Given the description of an element on the screen output the (x, y) to click on. 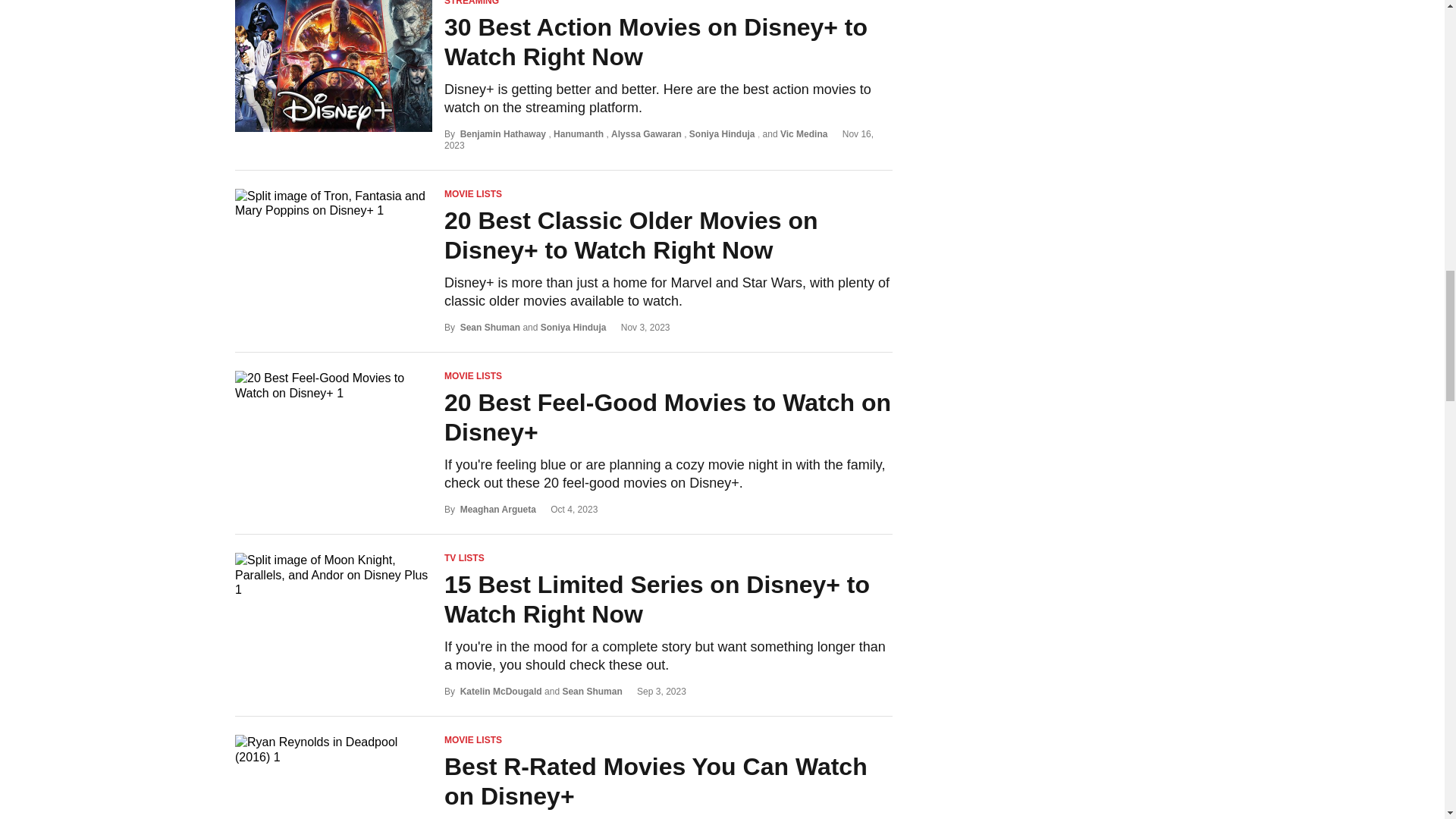
Posts by Alyssa Gawaran (646, 133)
Posts by Benjamin Hathaway (503, 133)
Posts by Hanumanth (578, 133)
